Given the description of an element on the screen output the (x, y) to click on. 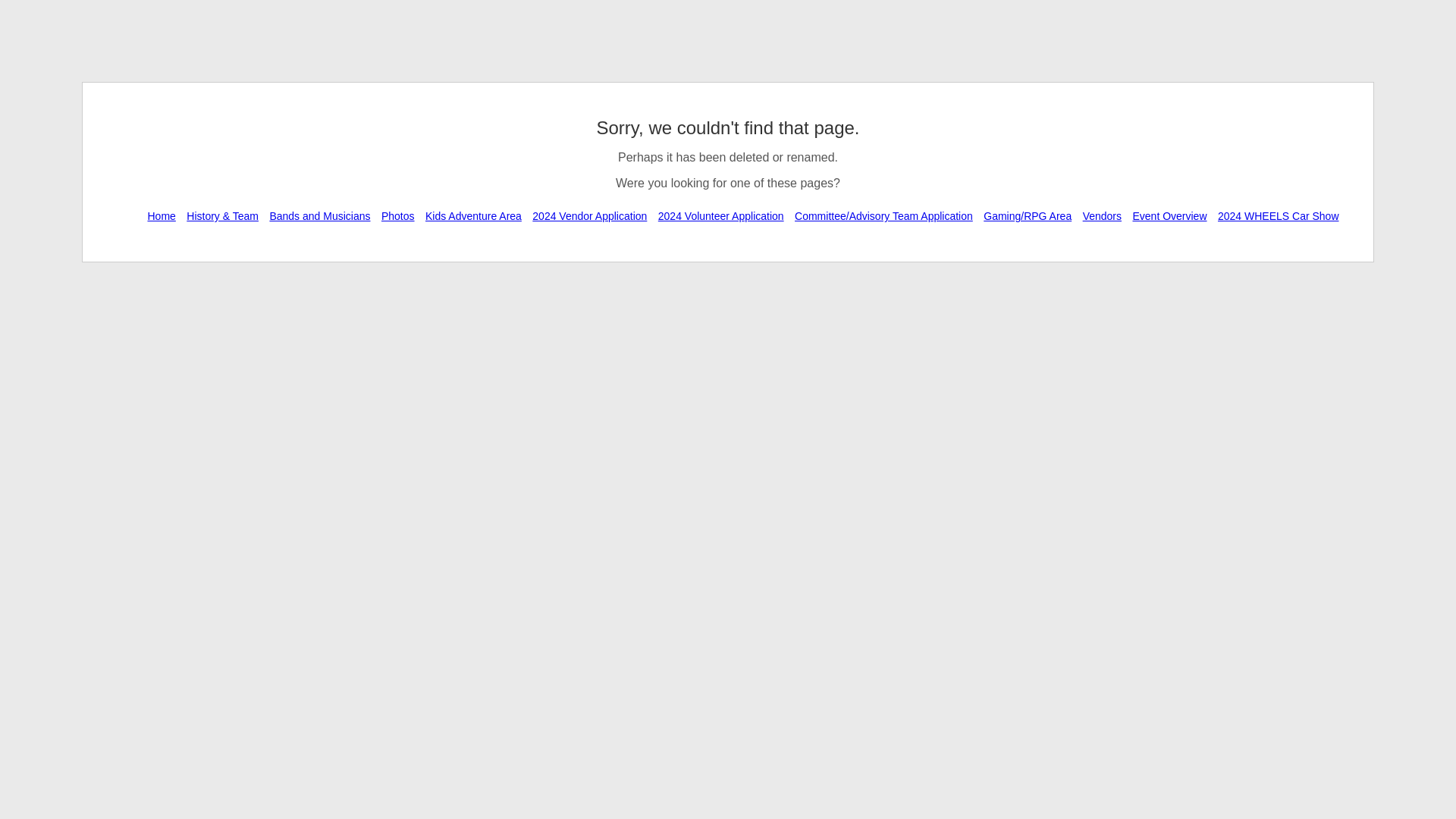
Vendors (1101, 215)
Bands and Musicians (319, 215)
2024 Volunteer Application (720, 215)
2024 Vendor Application (589, 215)
Kids Adventure Area (473, 215)
Event Overview (1168, 215)
Photos (398, 215)
2024 WHEELS Car Show (1278, 215)
Home (160, 215)
